Given the description of an element on the screen output the (x, y) to click on. 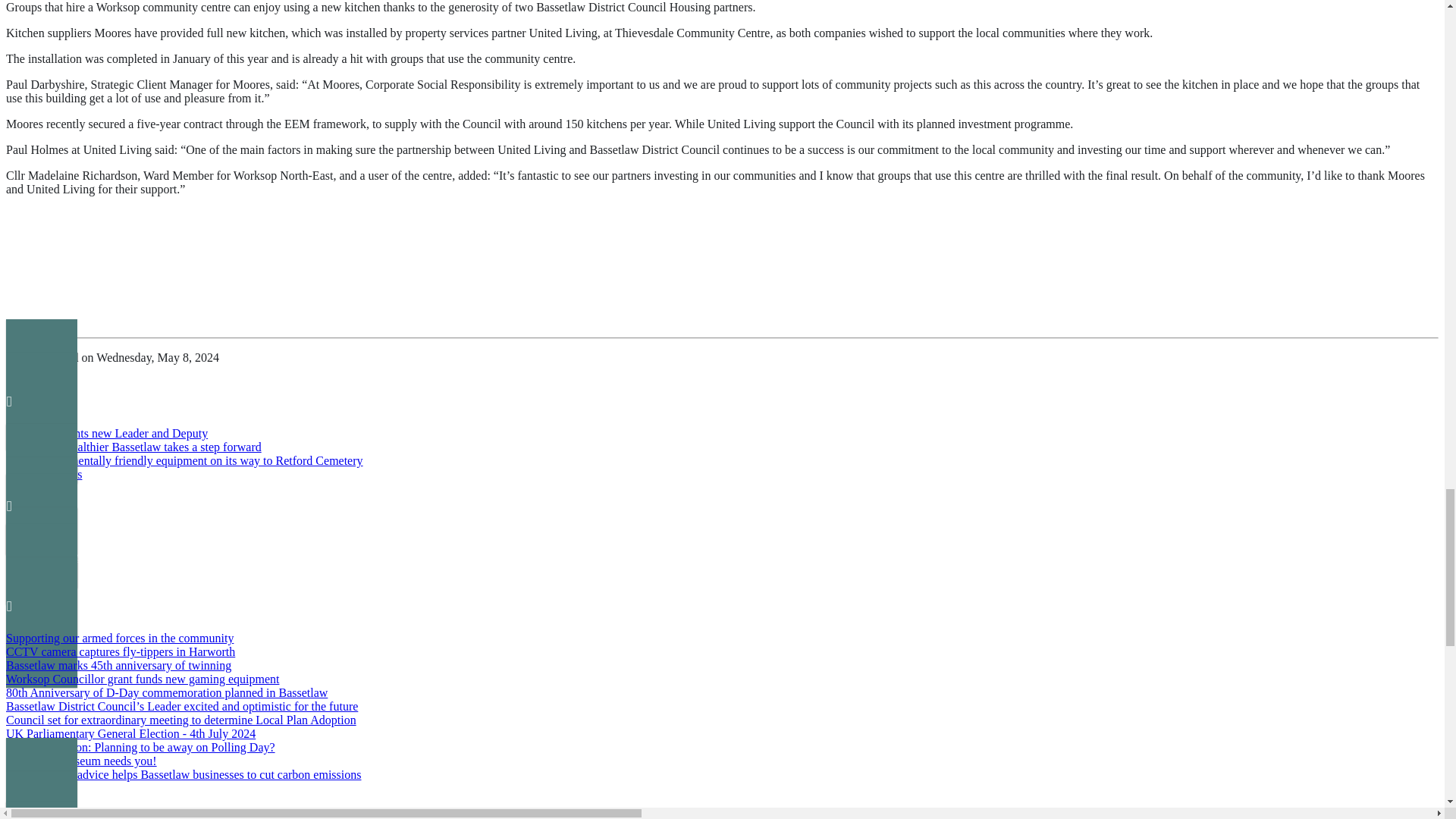
CCTV camera captures fly-tippers in Harworth (119, 651)
Worksop Councillor grant funds new gaming equipment (142, 678)
General Election: Planning to be away on Polling Day? (140, 747)
Council appoints new Leader and Deputy (106, 432)
All Latest news (43, 473)
80th Anniversary of D-Day commemoration planned in Bassetlaw (166, 692)
Supporting our armed forces in the community (118, 637)
Bassetlaw marks 45th anniversary of twinning (118, 665)
UK Parliamentary General Election - 4th July 2024 (130, 733)
May 2024 (721, 810)
